Given the description of an element on the screen output the (x, y) to click on. 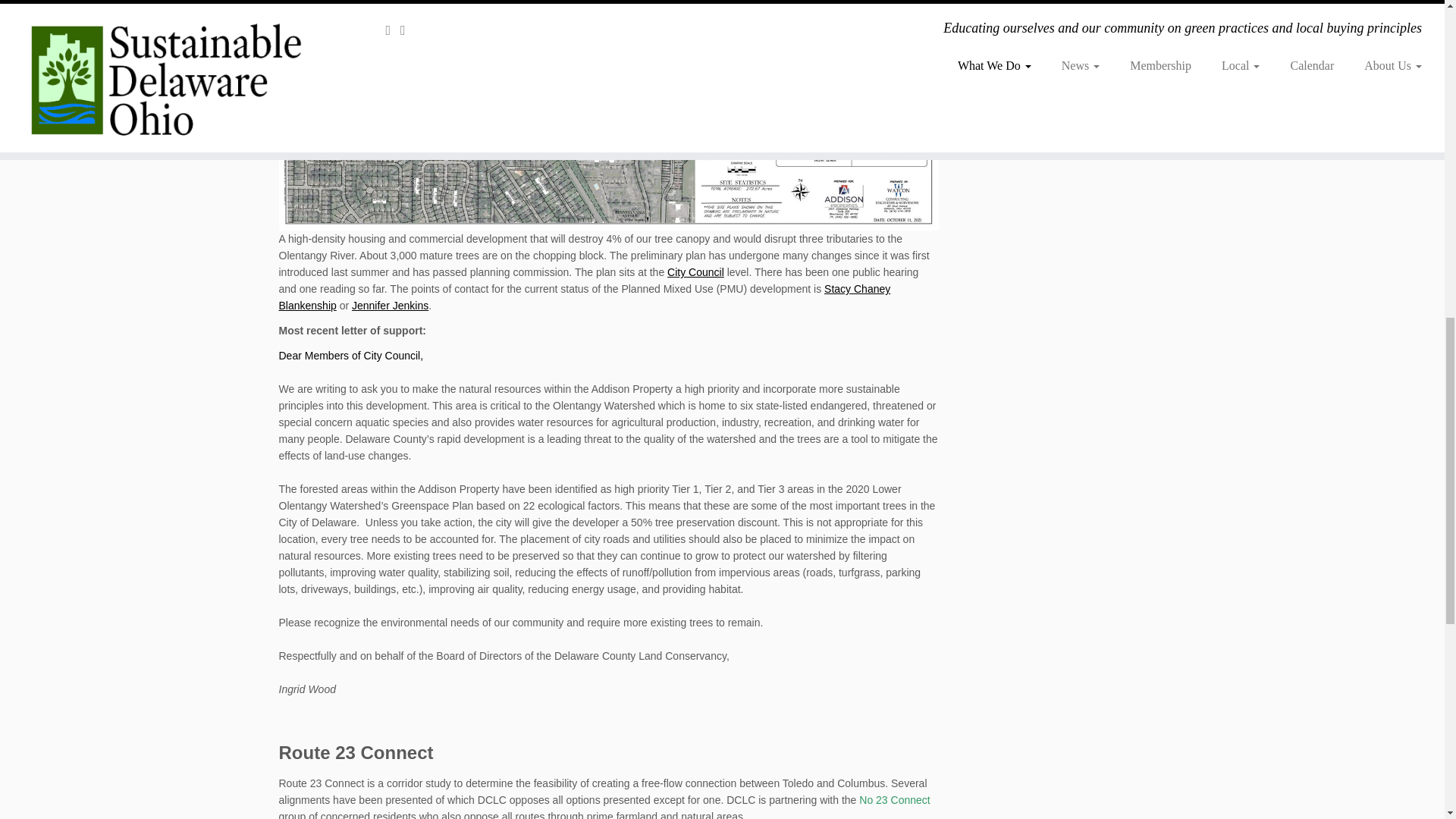
Stacy Chaney Blankenship (585, 297)
City Council (694, 272)
Jennifer Jenkins (390, 305)
